Given the description of an element on the screen output the (x, y) to click on. 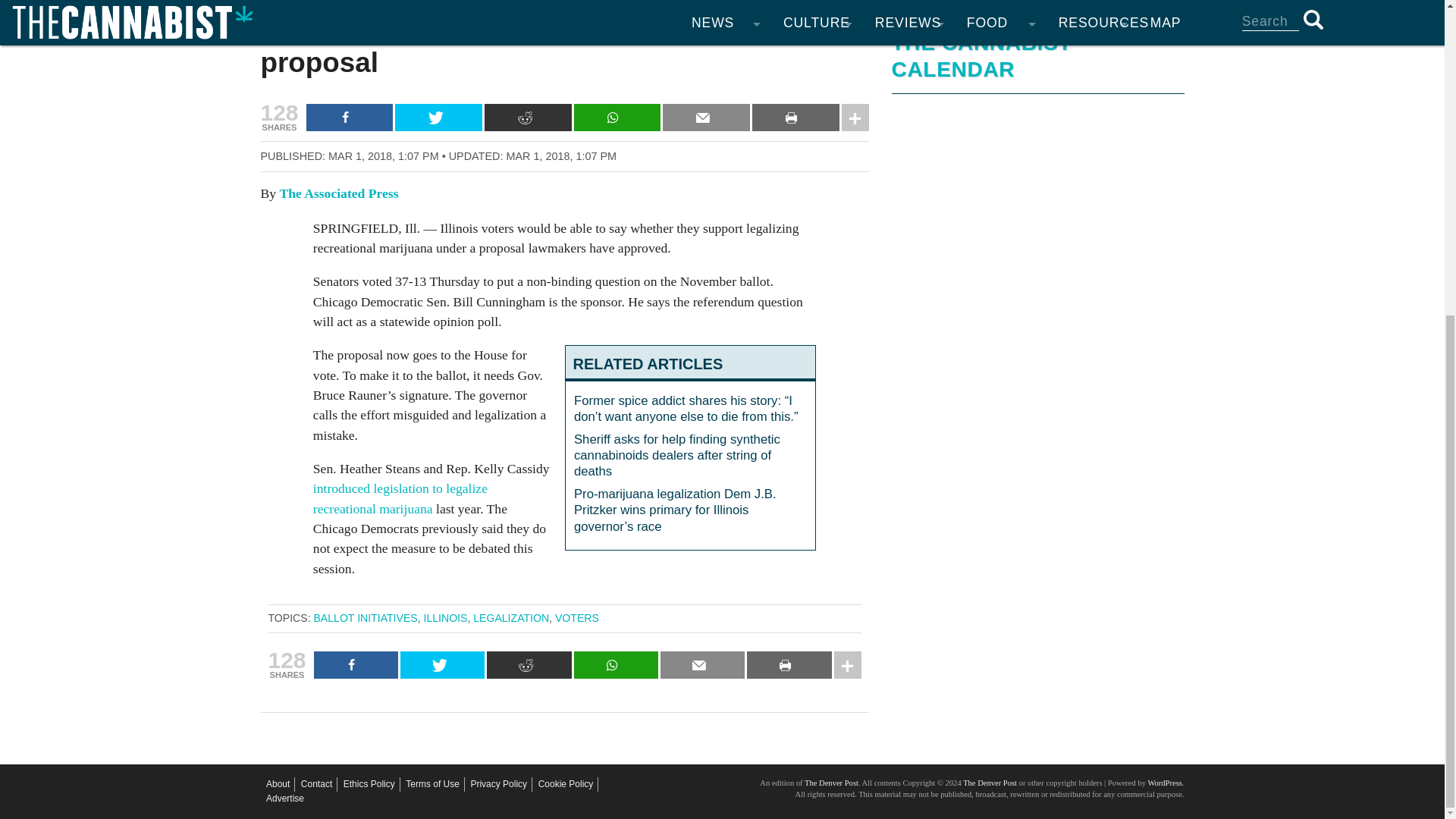
Advertise on The Cannabist (285, 798)
Personal Publishing Platform (1163, 782)
Denver Post Terms of Use (433, 784)
Denver Post Privacy Policy (498, 784)
Contact The Cannabist (316, 784)
Denver Post Ethics Policy (368, 784)
About The Cannabist (277, 784)
The Denver Post (989, 782)
The Denver Post (832, 782)
